Given the description of an element on the screen output the (x, y) to click on. 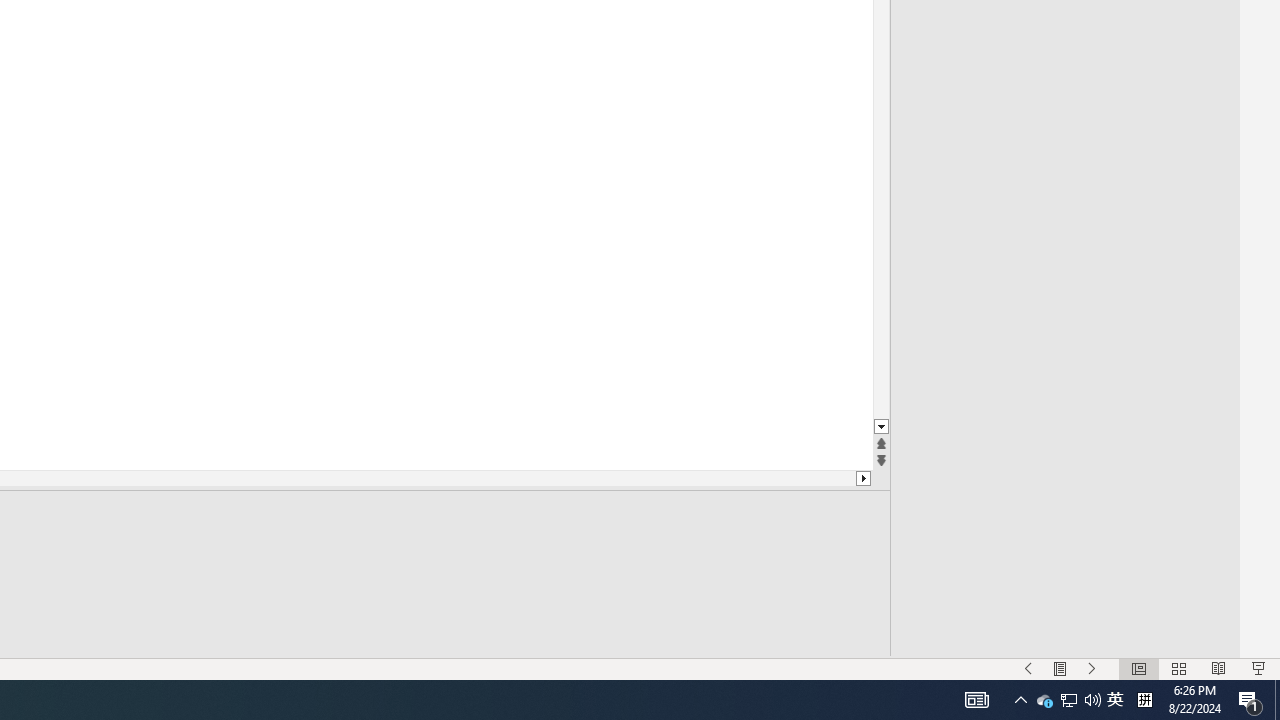
Slide Show Next On (1092, 668)
Menu On (1060, 668)
Slide Show Previous On (1028, 668)
